Given the description of an element on the screen output the (x, y) to click on. 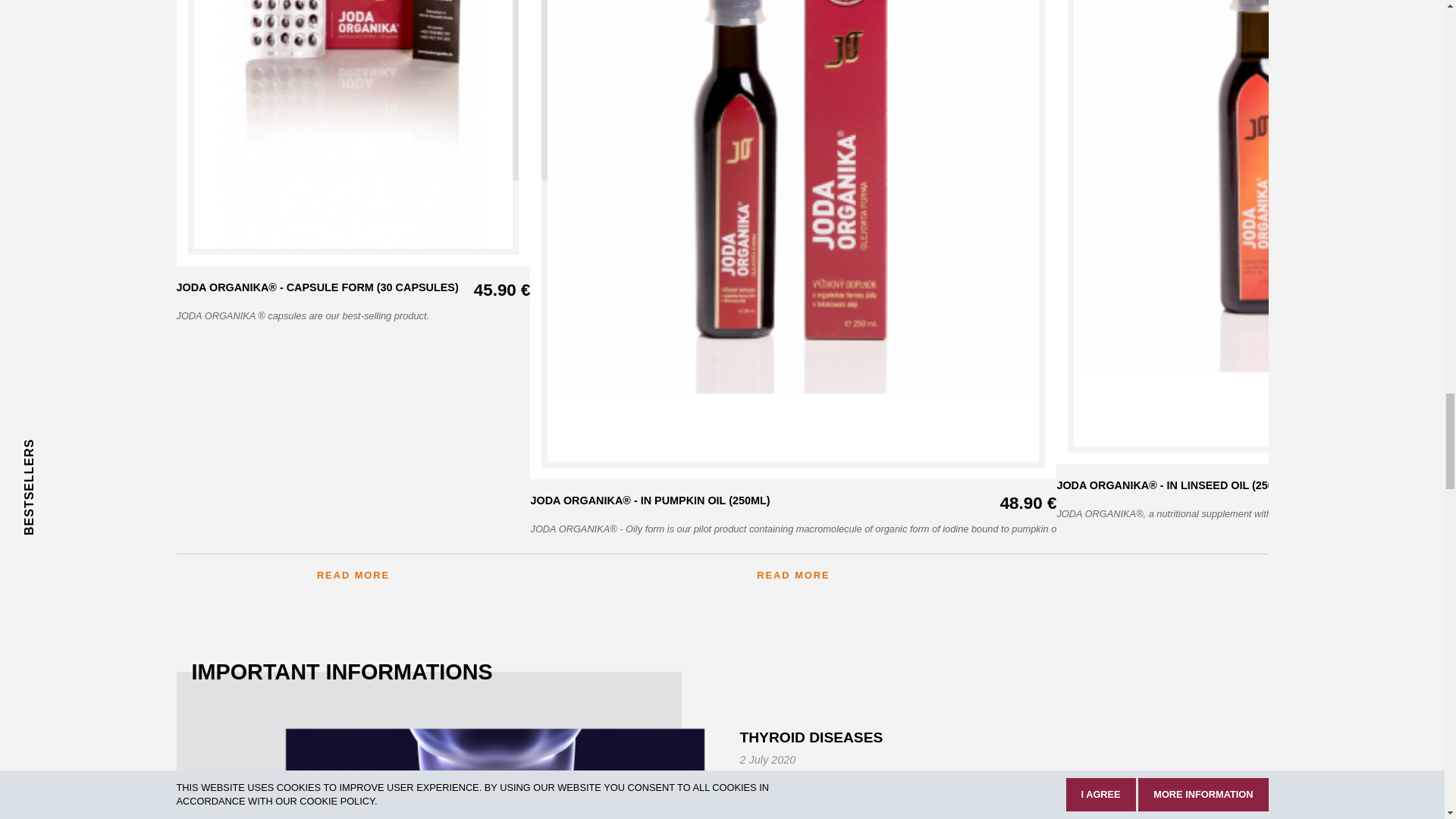
THYROID DISEASES (494, 773)
